Given the description of an element on the screen output the (x, y) to click on. 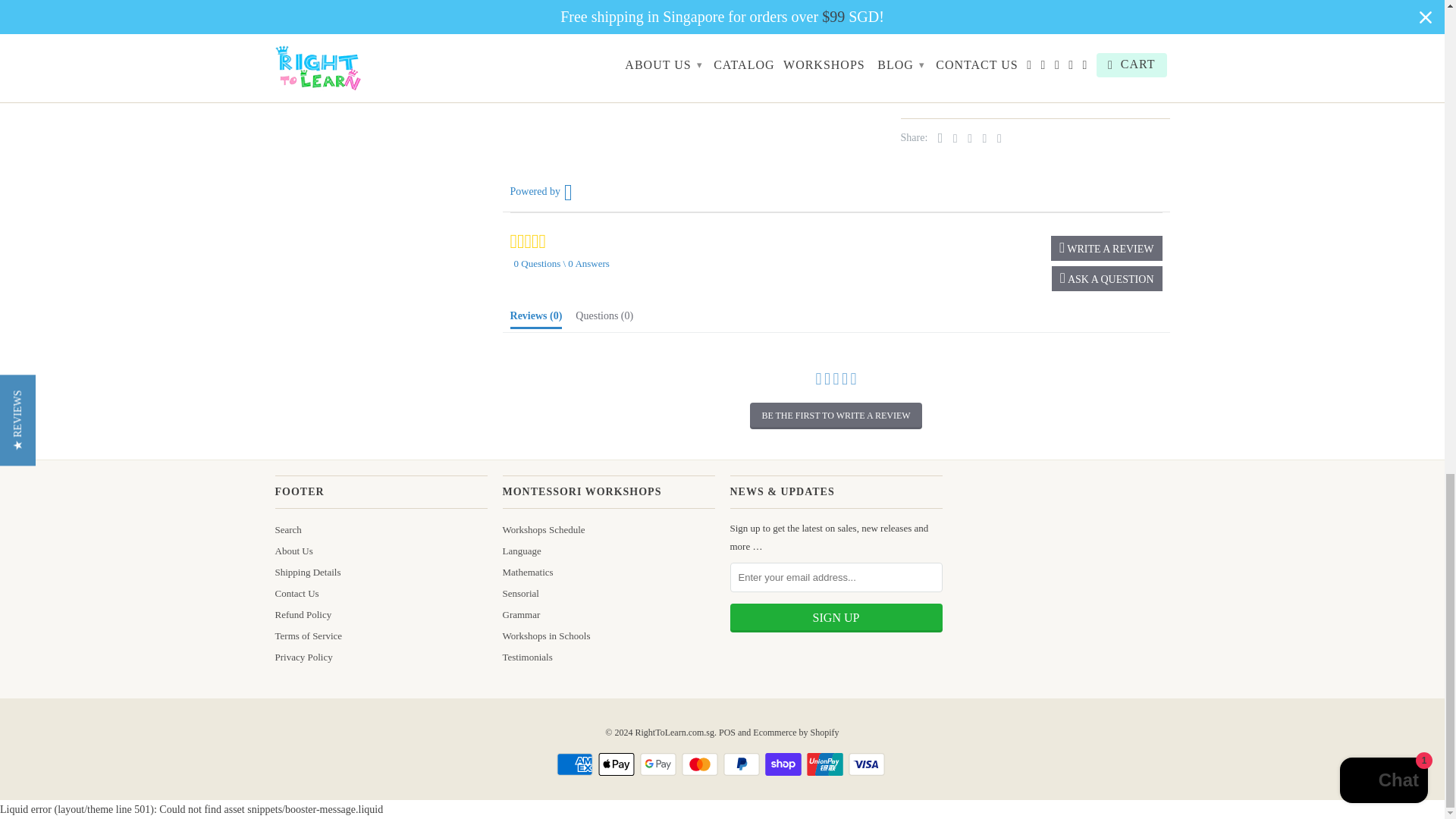
Sign Up (835, 617)
